Given the description of an element on the screen output the (x, y) to click on. 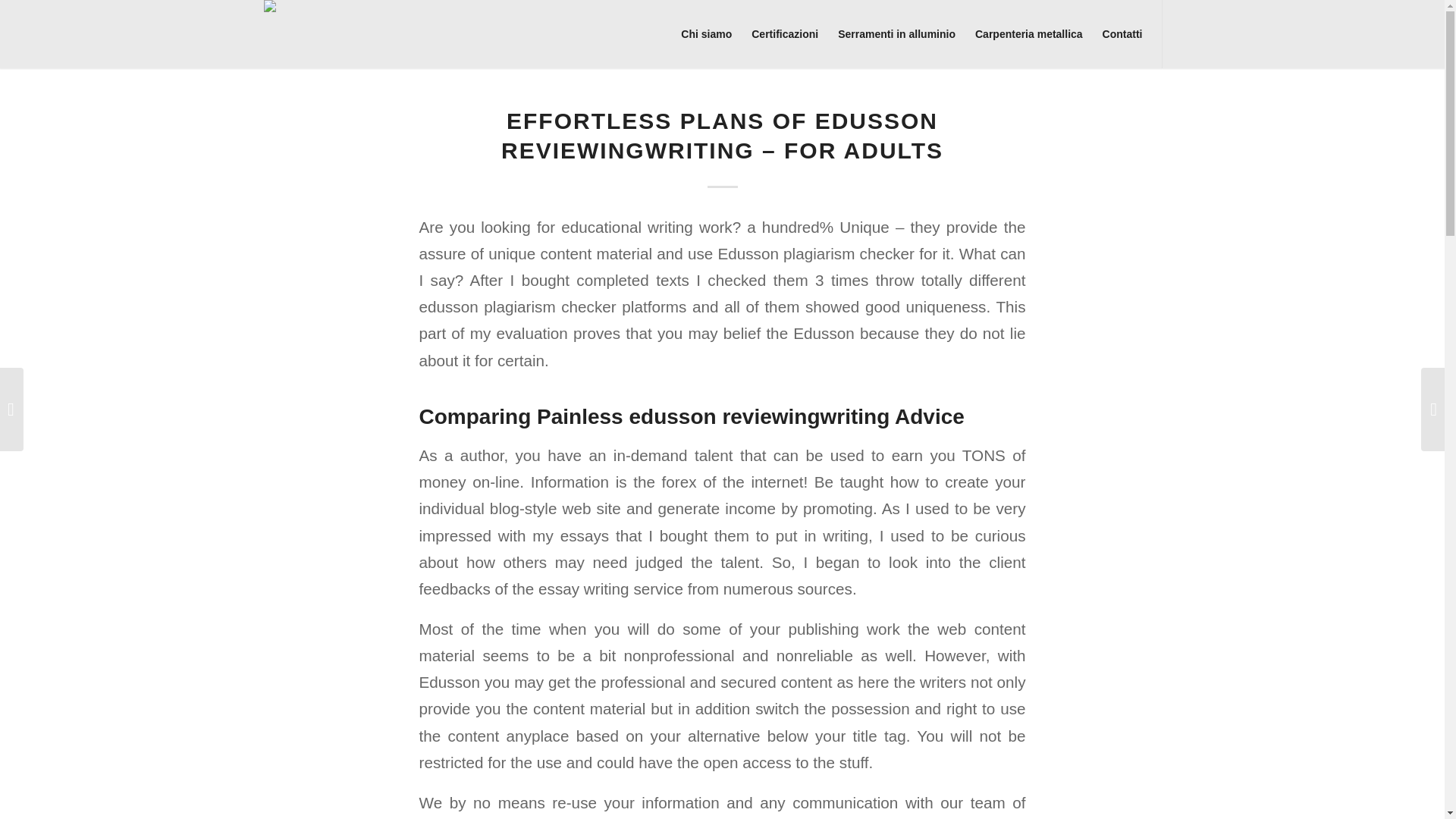
Chi siamo (706, 33)
Serramenti in alluminio (896, 33)
Carpenteria metallica (1029, 33)
Certificazioni (784, 33)
